Given the description of an element on the screen output the (x, y) to click on. 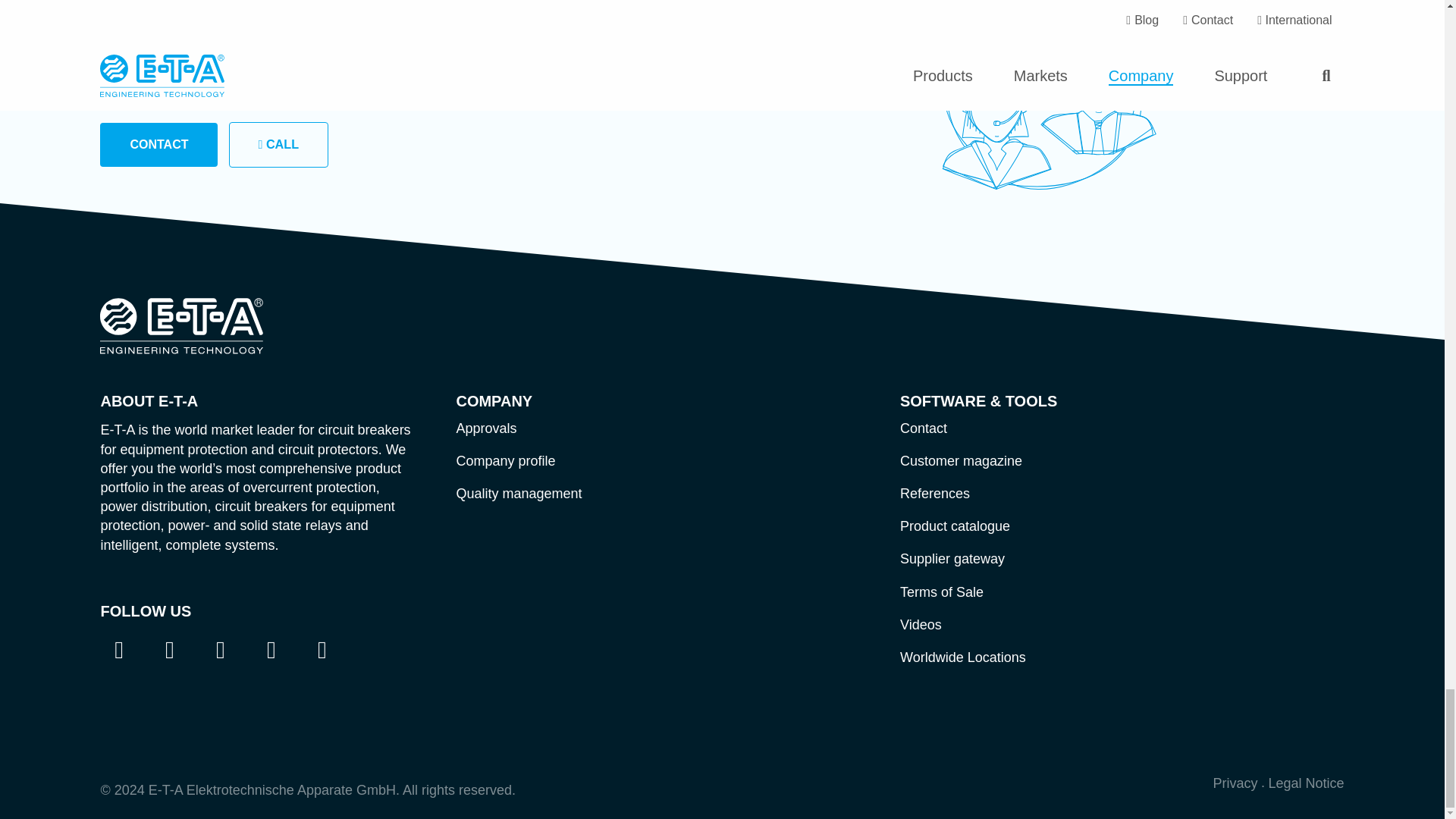
To Homepage (192, 325)
